Given the description of an element on the screen output the (x, y) to click on. 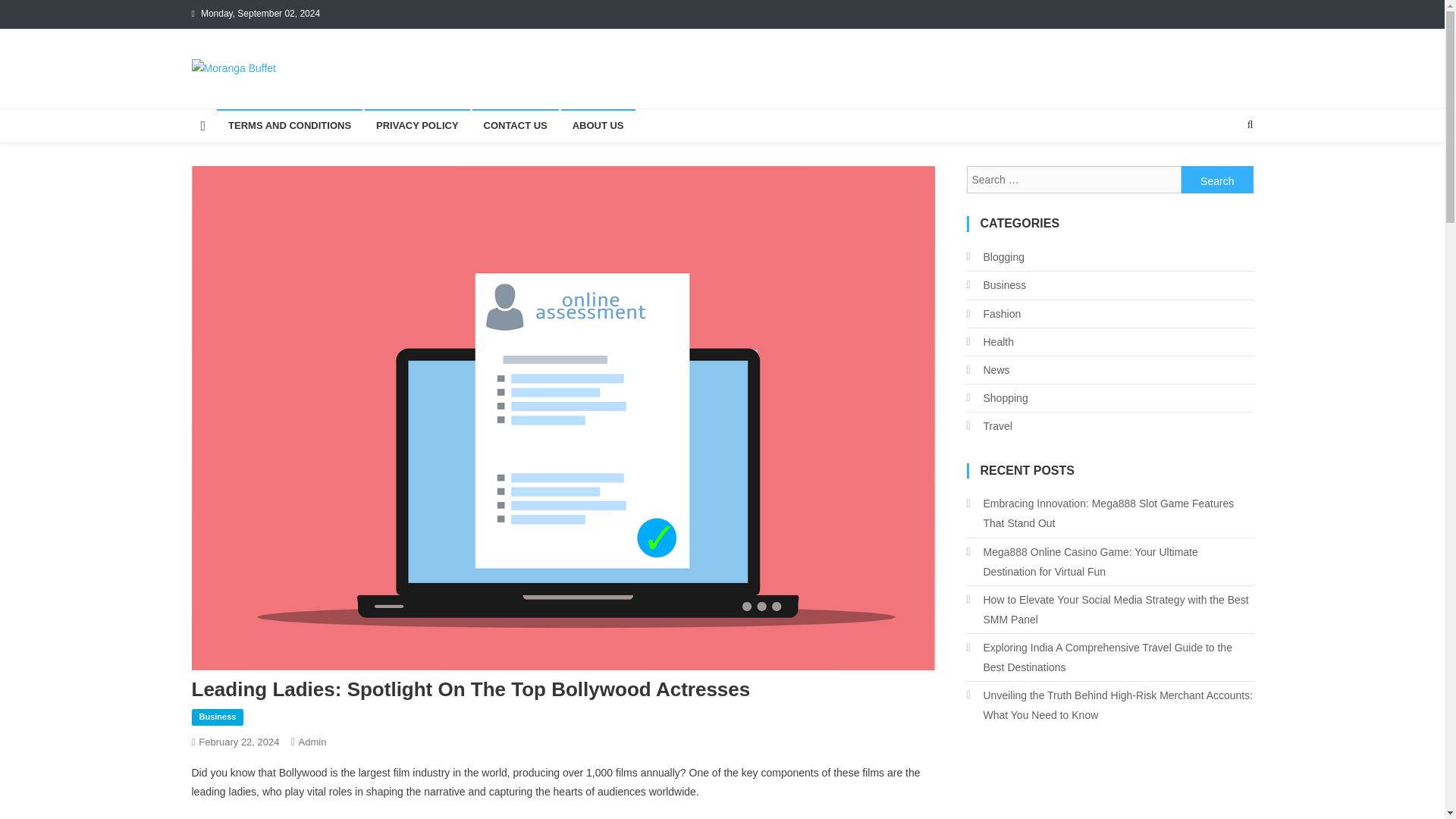
PRIVACY POLICY (417, 125)
Blogging (995, 256)
Admin (312, 741)
CONTACT US (514, 125)
February 22, 2024 (238, 741)
Search (1221, 175)
Search (1216, 179)
Fashion (993, 313)
